Given the description of an element on the screen output the (x, y) to click on. 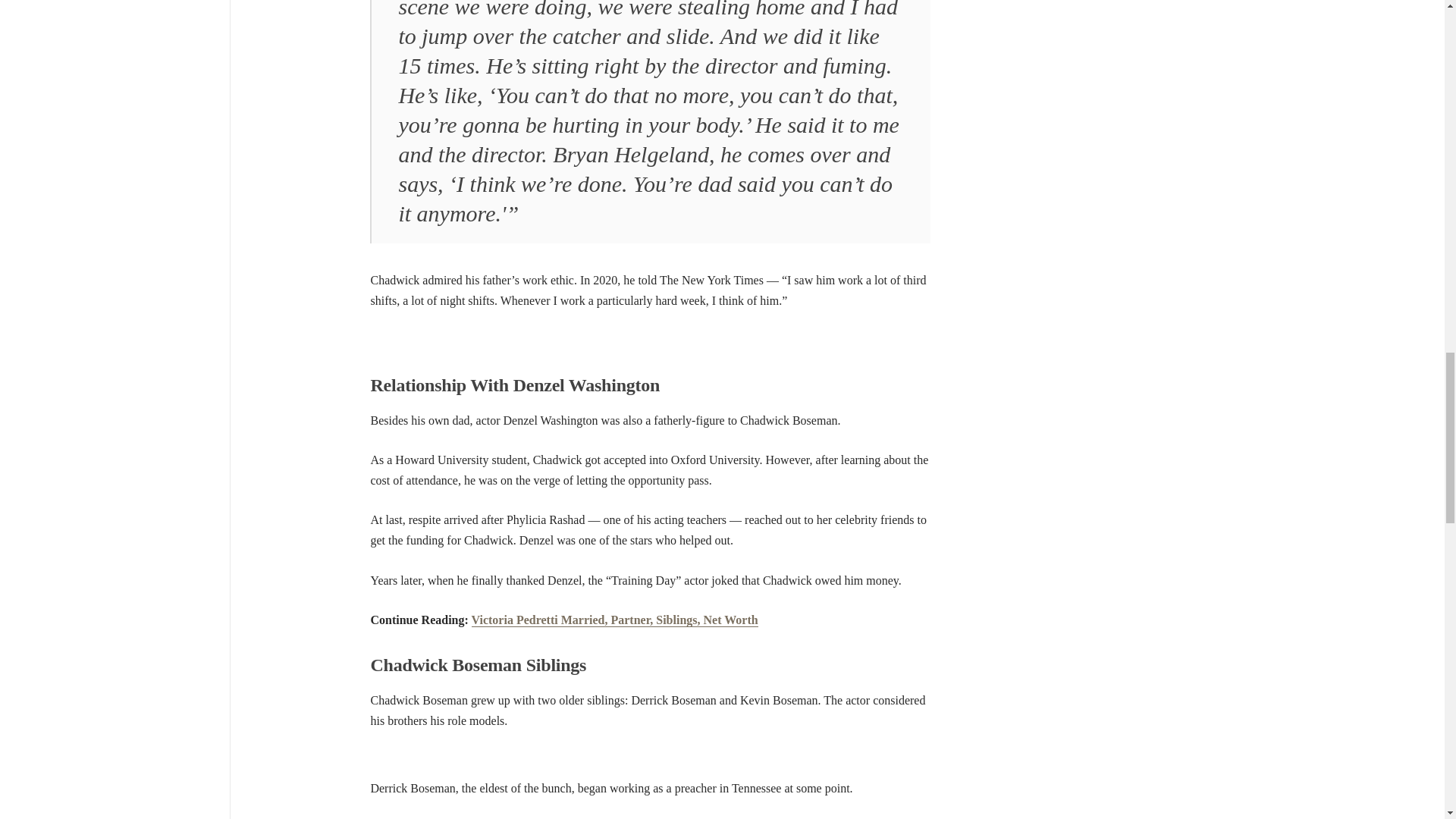
Victoria Pedretti Married, Partner, Siblings, Net Worth (614, 620)
